Given the description of an element on the screen output the (x, y) to click on. 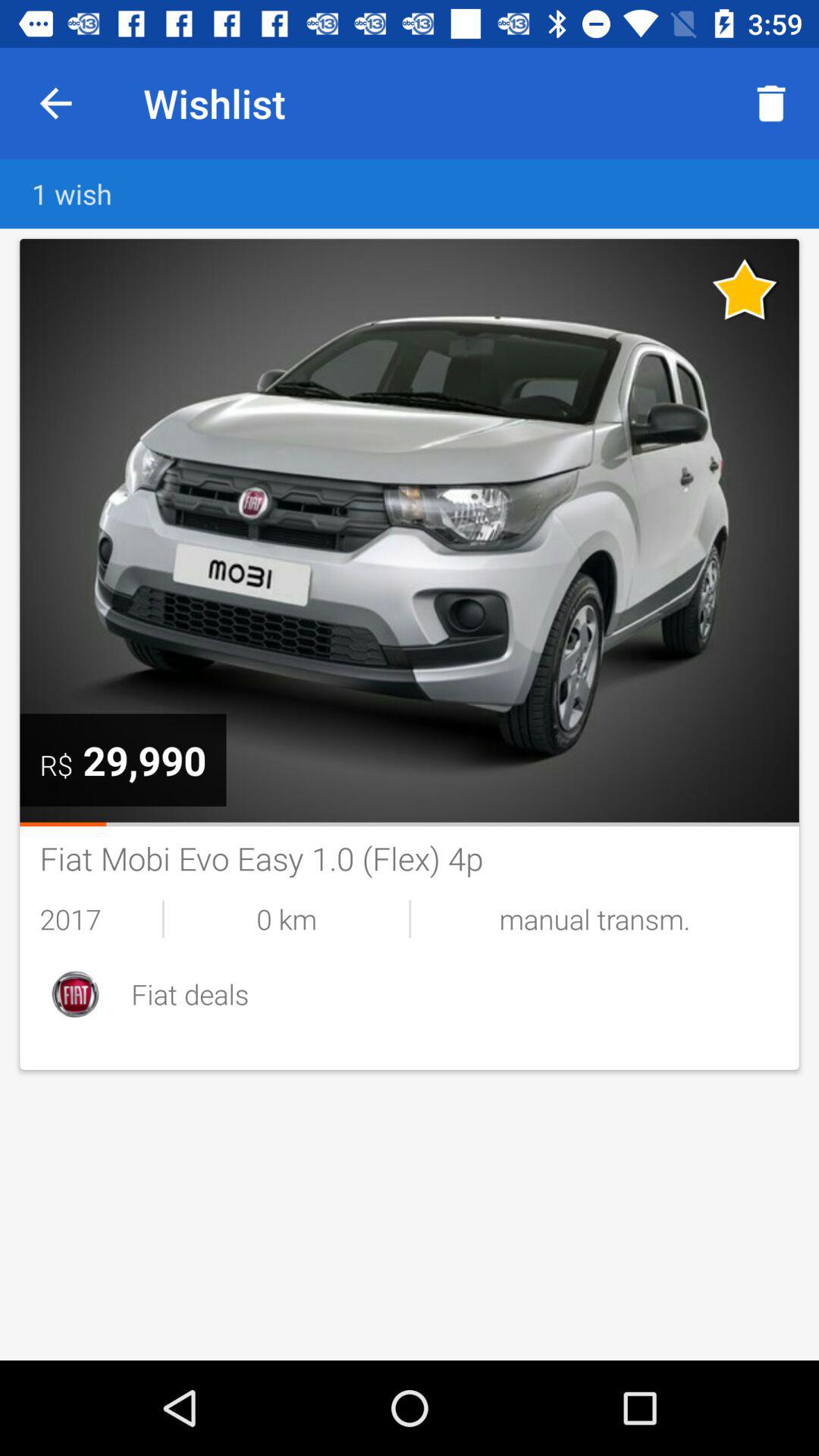
select the icon to the right of wishlist icon (771, 103)
